Given the description of an element on the screen output the (x, y) to click on. 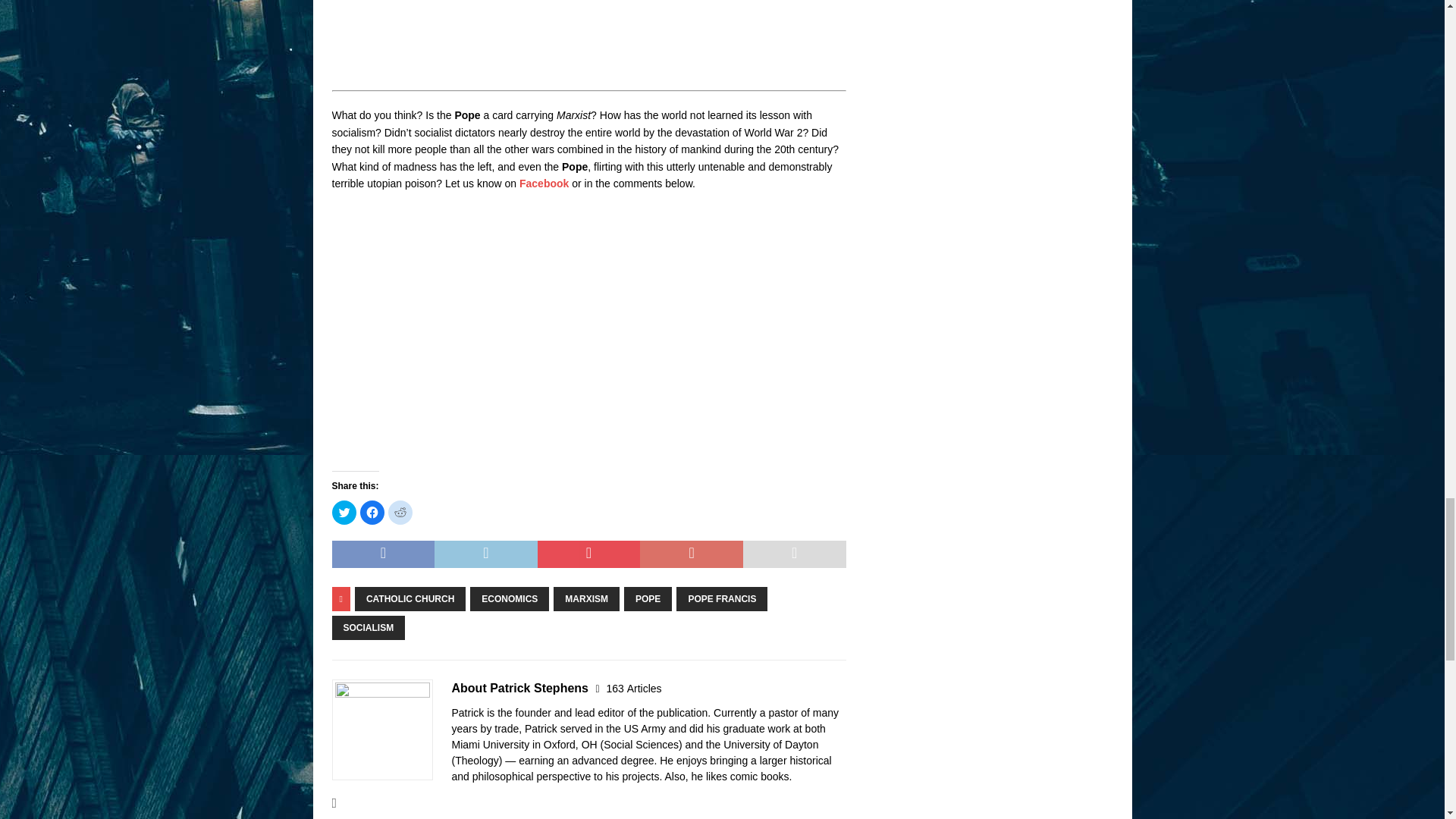
Click to share on Reddit (400, 512)
Click to share on Twitter (343, 512)
Click to share on Facebook (371, 512)
